Given the description of an element on the screen output the (x, y) to click on. 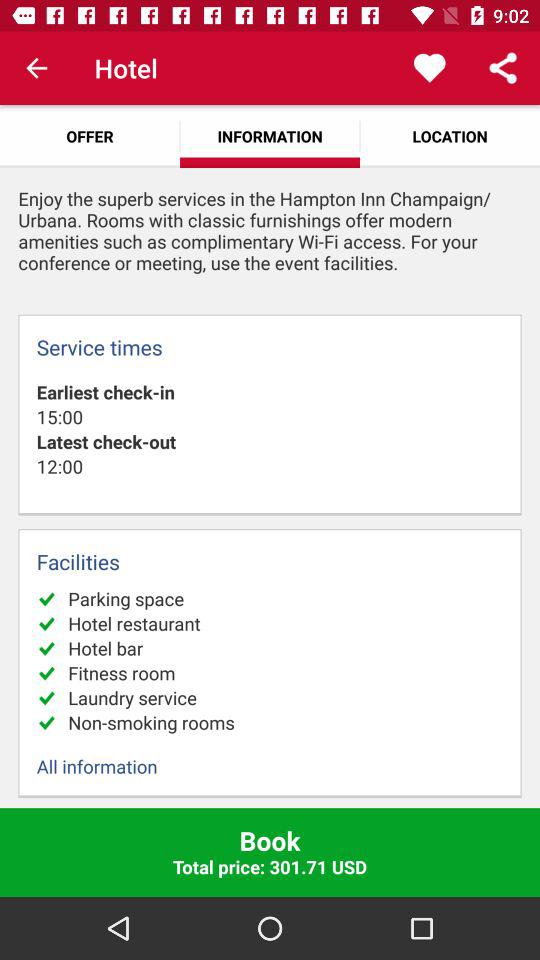
turn off icon next to hotel (36, 68)
